Given the description of an element on the screen output the (x, y) to click on. 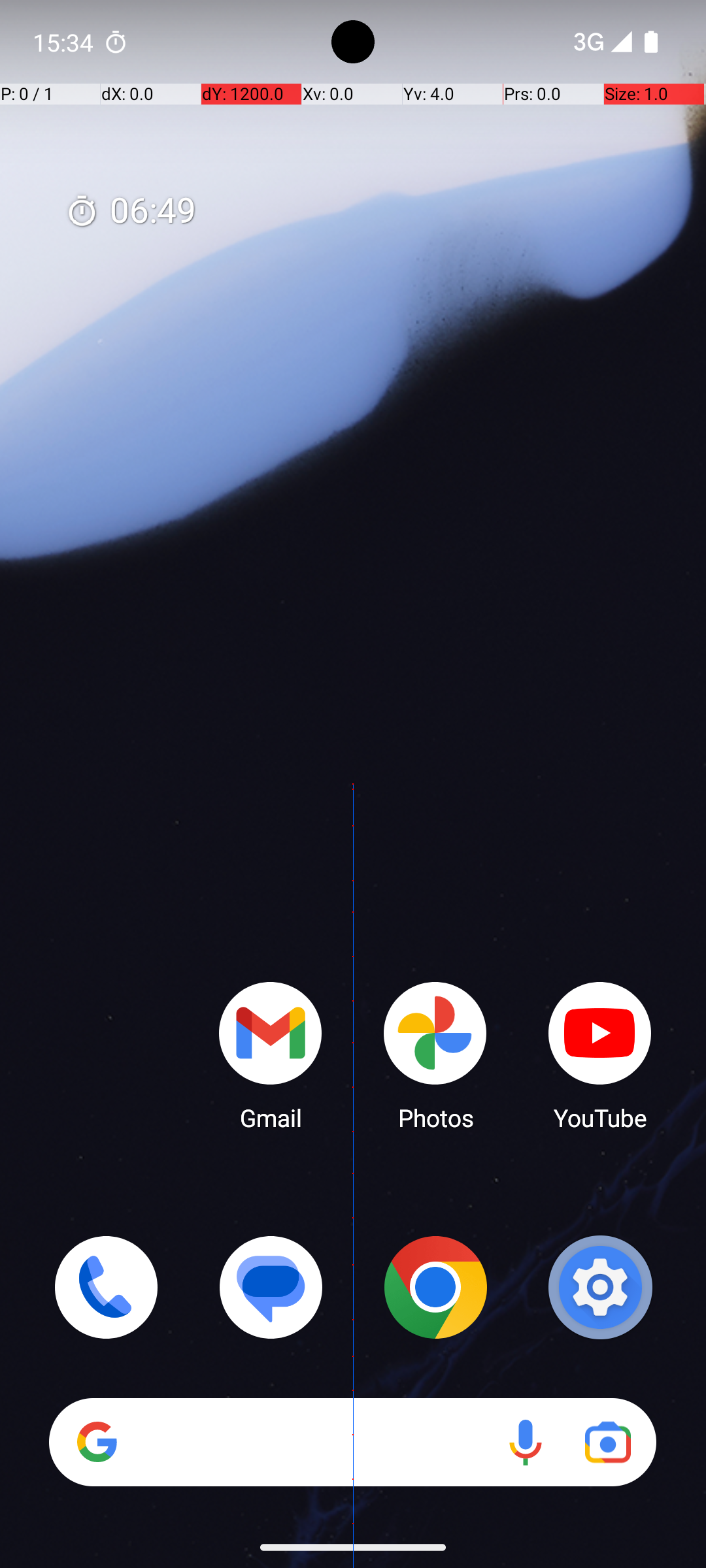
06:49 Element type: android.widget.TextView (130, 210)
3G Element type: android.widget.ImageView (587, 41)
